Given the description of an element on the screen output the (x, y) to click on. 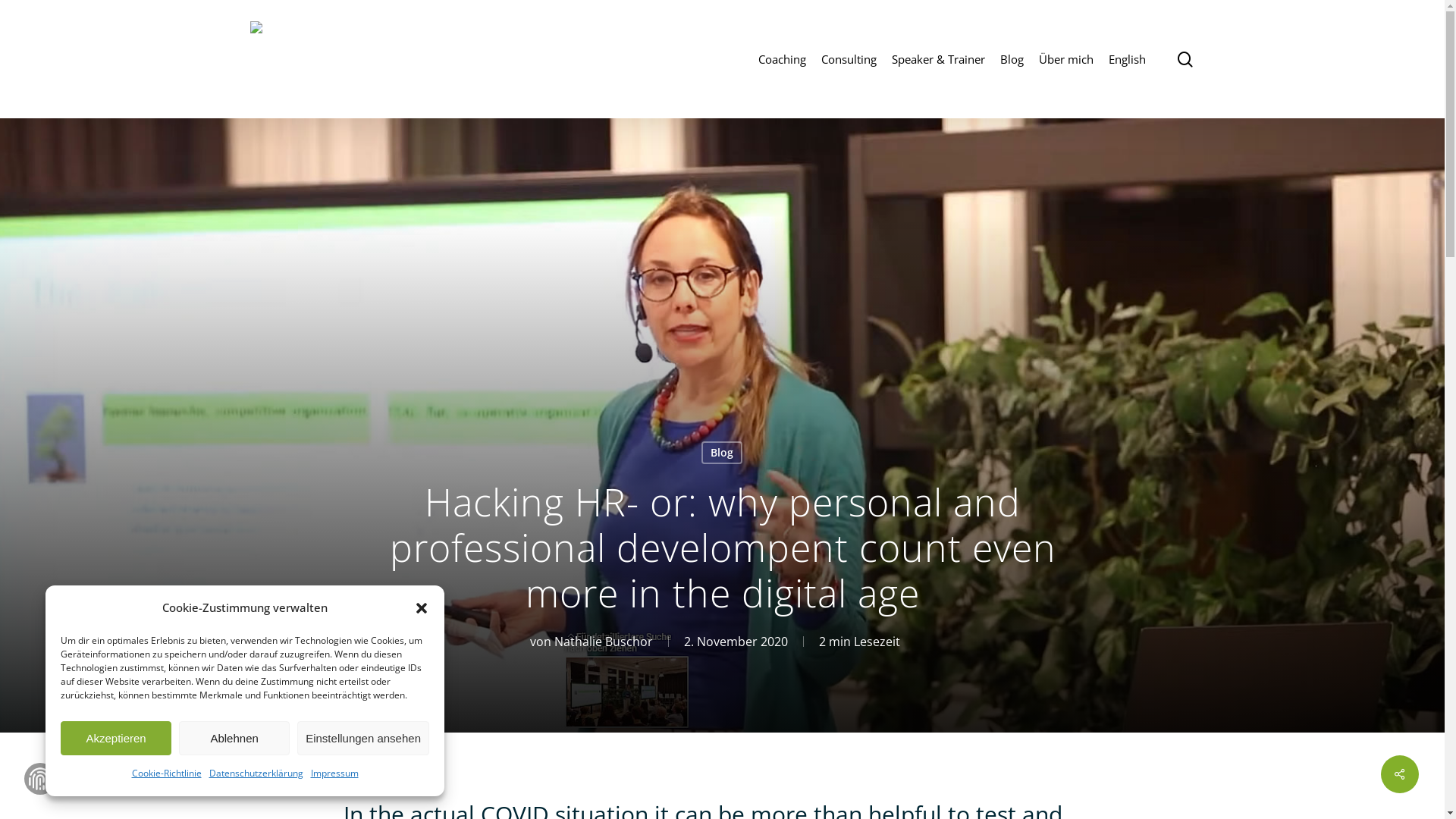
Zustimmung verwalten Element type: text (40, 778)
suchen Element type: text (1185, 59)
Impressum Element type: text (334, 773)
Cookie-Richtlinie Element type: text (166, 773)
Nathalie Buschor Element type: text (602, 641)
Consulting Element type: text (848, 59)
English Element type: text (1126, 59)
Blog Element type: text (721, 452)
Speaker & Trainer Element type: text (938, 59)
Einstellungen ansehen Element type: text (363, 738)
Akzeptieren Element type: text (115, 738)
Ablehnen Element type: text (233, 738)
Blog Element type: text (1011, 59)
Coaching Element type: text (782, 59)
